Given the description of an element on the screen output the (x, y) to click on. 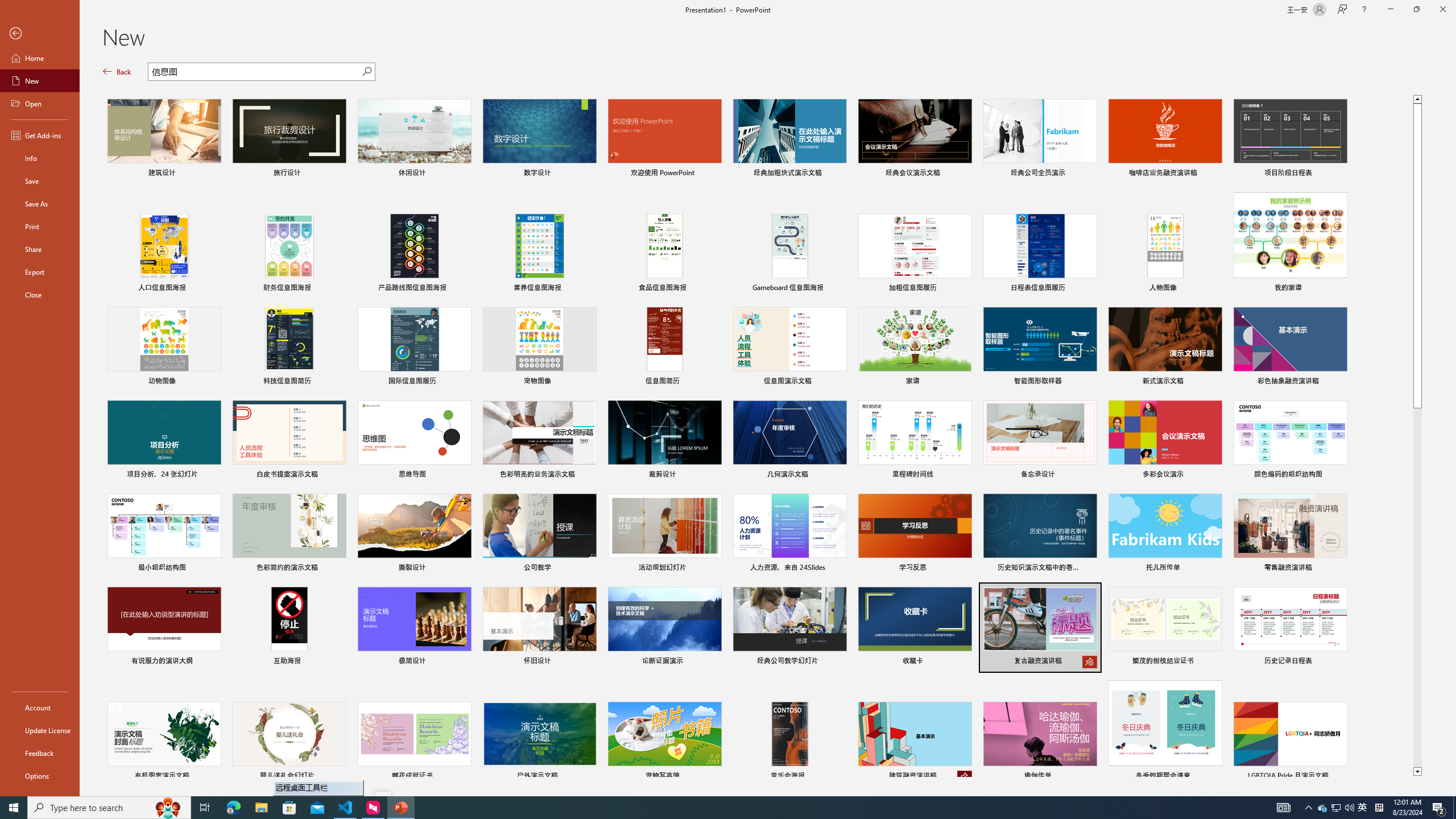
Get Add-ins (40, 134)
Search for online templates and themes (254, 73)
Pin to list (1339, 776)
